Given the description of an element on the screen output the (x, y) to click on. 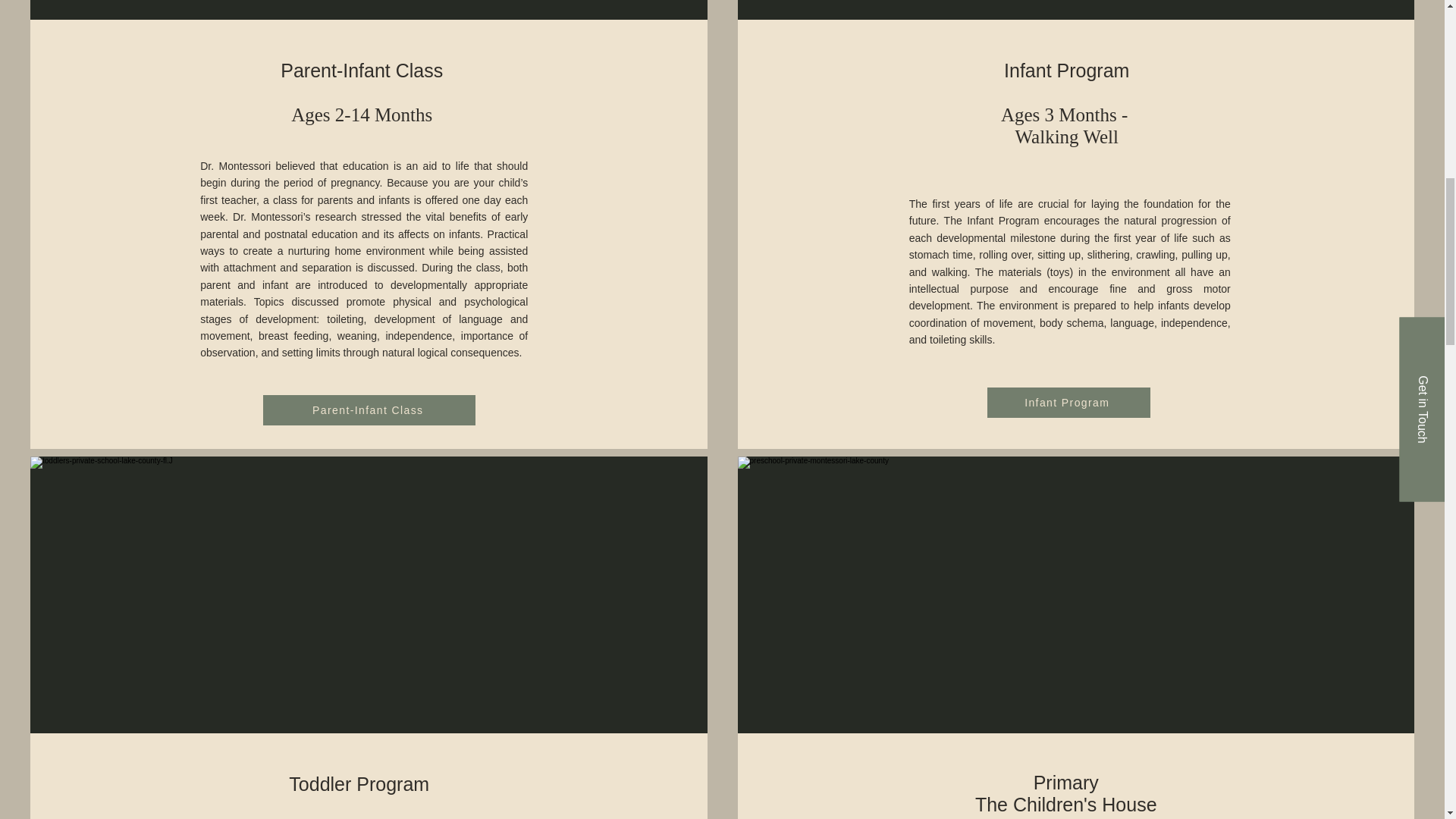
Infant Program (1068, 402)
Parent-Infant Class (361, 70)
Parent-Infant Class (369, 409)
